Given the description of an element on the screen output the (x, y) to click on. 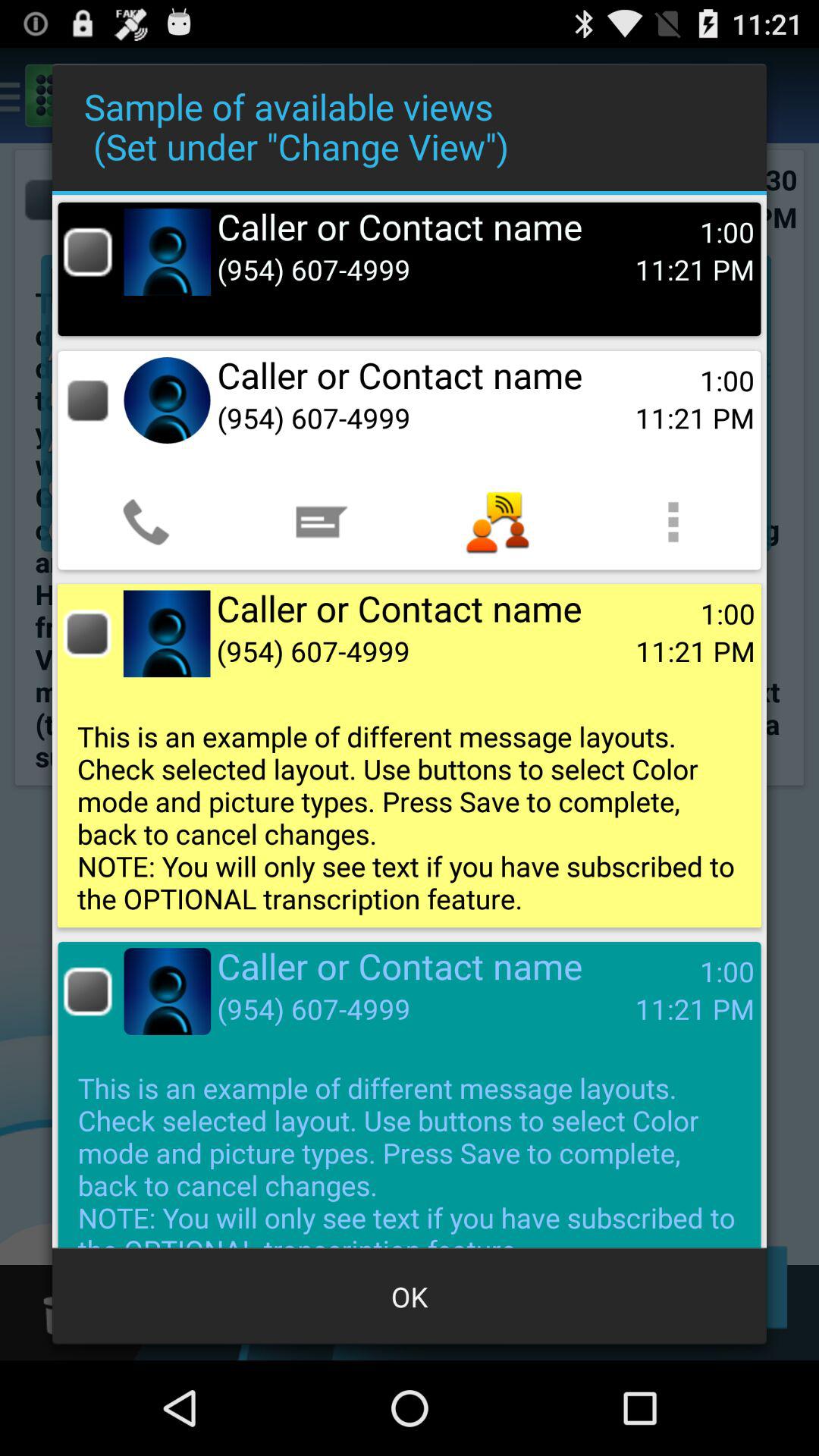
turn off app below the this is an icon (409, 1296)
